Given the description of an element on the screen output the (x, y) to click on. 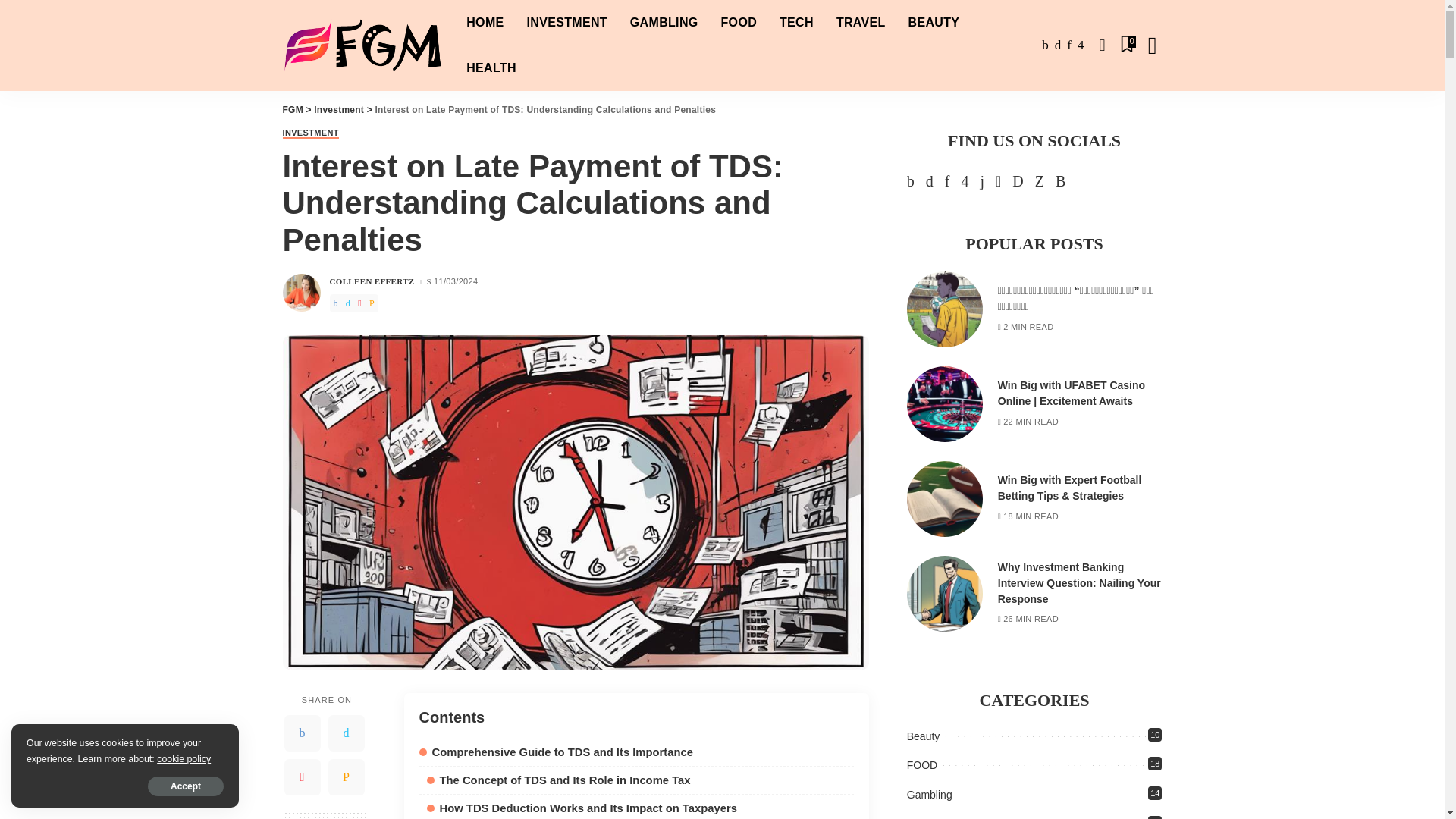
TRAVEL (860, 22)
FOOD (739, 22)
INVESTMENT (566, 22)
TECH (796, 22)
BEAUTY (933, 22)
GAMBLING (664, 22)
HOME (484, 22)
FGM (363, 44)
HEALTH (490, 67)
